Given the description of an element on the screen output the (x, y) to click on. 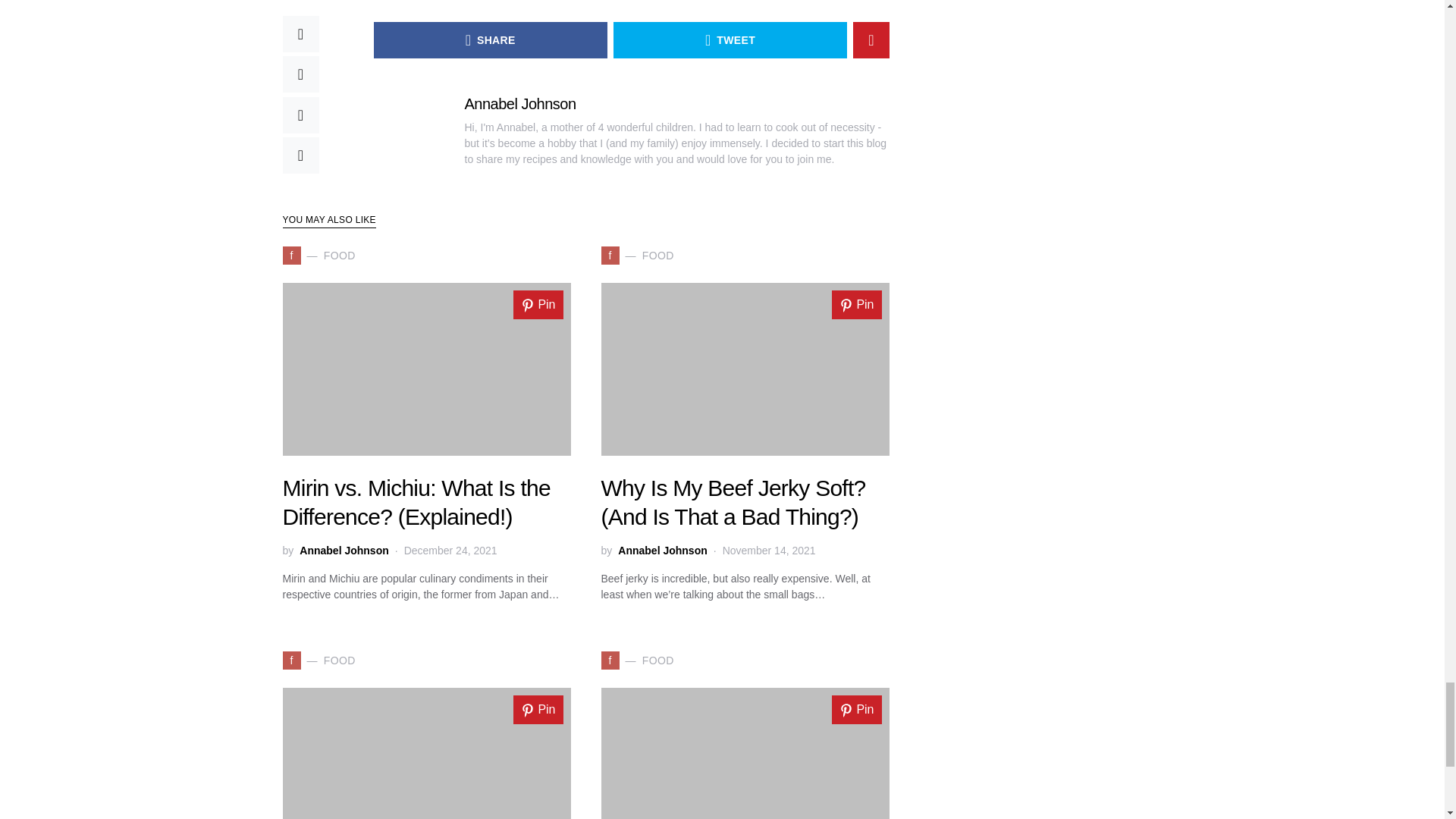
View all posts by Annabel Johnson (343, 550)
View all posts by Annabel Johnson (661, 550)
